Given the description of an element on the screen output the (x, y) to click on. 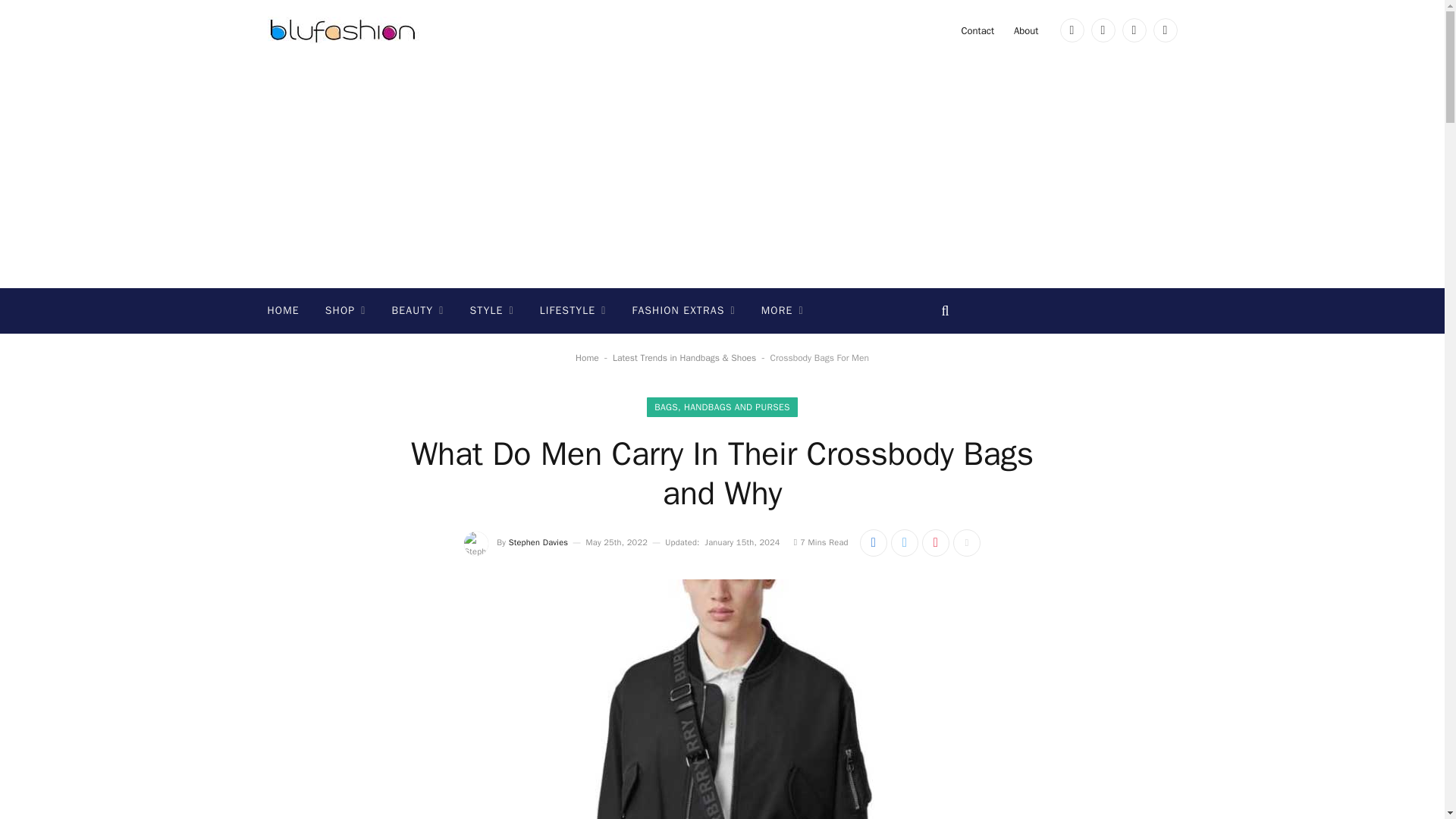
Share on Facebook (873, 542)
Posts by Stephen Davies (538, 542)
Show More Social Sharing (966, 542)
Share on Pinterest (935, 542)
Blufashion.com (342, 30)
